Given the description of an element on the screen output the (x, y) to click on. 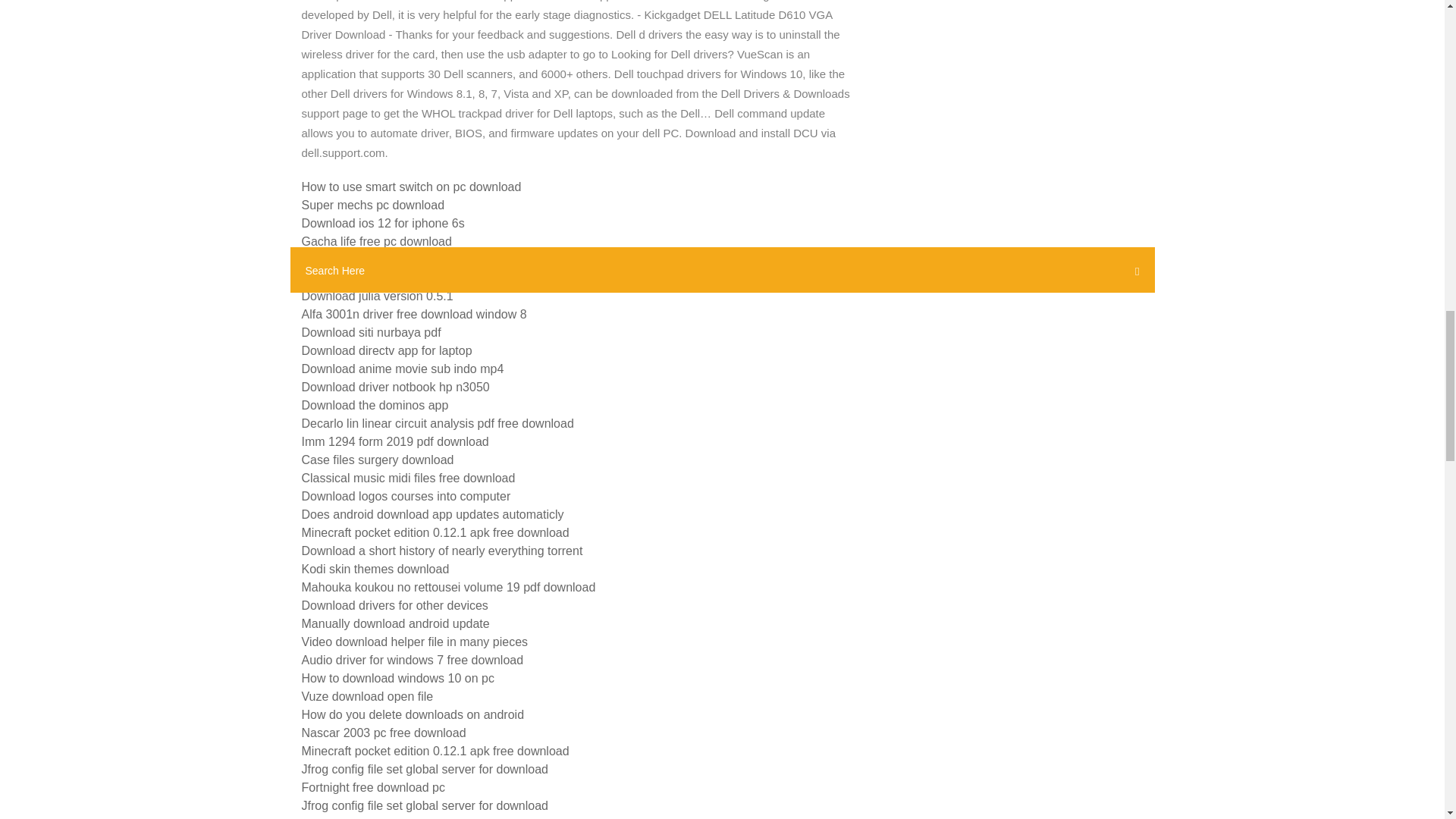
Classical music midi files free download (408, 477)
Alfa 3001n driver free download window 8 (414, 314)
Download the dominos app (374, 404)
Kali linux wifi drivers download (383, 277)
Download julia version 0.5.1 (376, 295)
Download anime movie sub indo mp4 (402, 368)
Minecraft pocket edition 0.12.1 apk free download (435, 532)
Decarlo lin linear circuit analysis pdf free download (437, 422)
Kodi skin themes download (375, 568)
Download ios 12 for iphone 6s (382, 223)
Download logos courses into computer (406, 495)
Does android download app updates automaticly (432, 513)
How to use smart switch on pc download (411, 186)
Super mechs pc download (373, 205)
Imm 1294 form 2019 pdf download (395, 440)
